Given the description of an element on the screen output the (x, y) to click on. 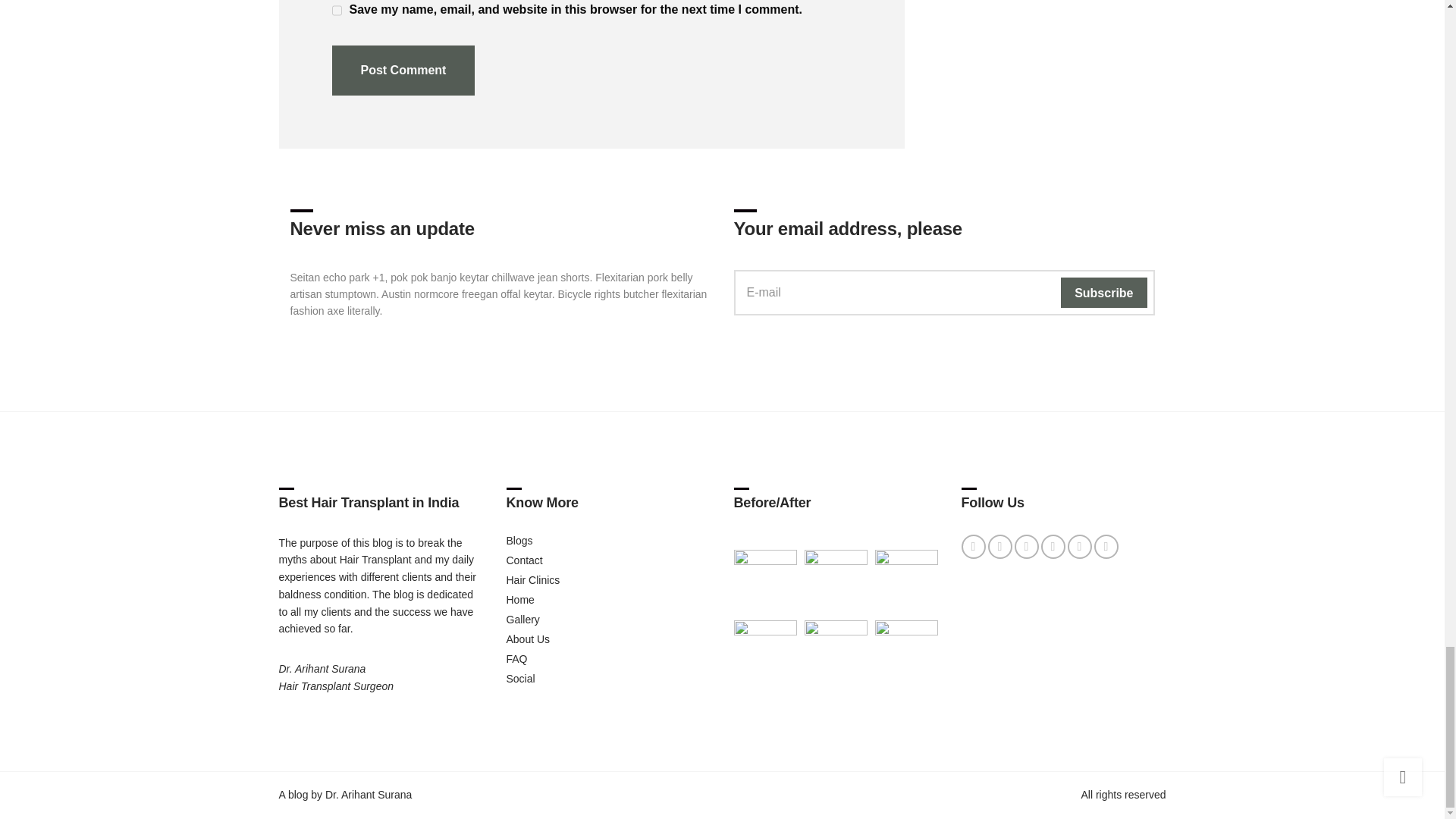
Post Comment (403, 70)
